Given the description of an element on the screen output the (x, y) to click on. 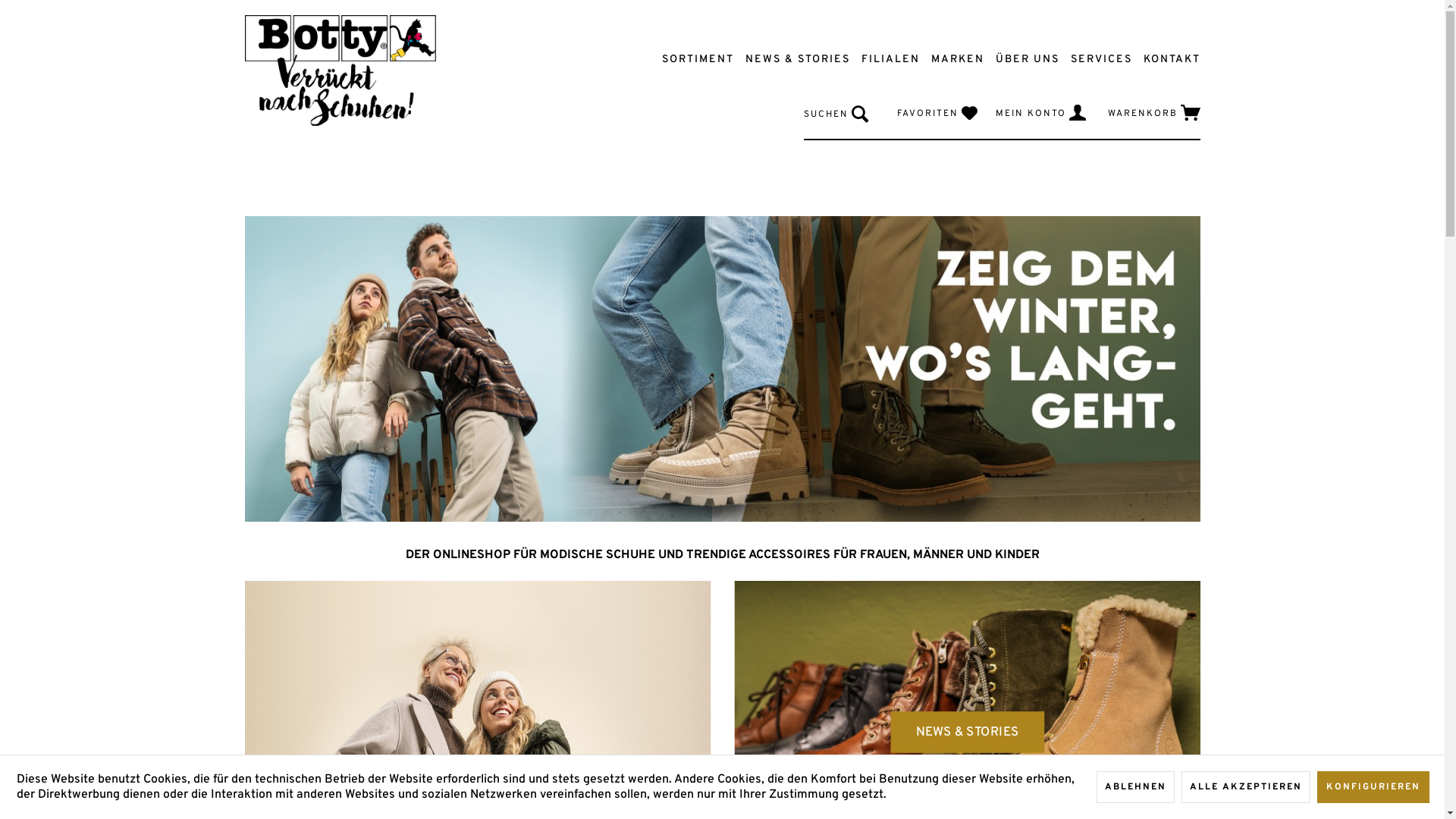
SUCHEN Element type: text (835, 115)
SORTIMENT Element type: text (692, 59)
ALLE AKZEPTIEREN Element type: text (1245, 787)
MARKEN Element type: text (951, 59)
ABLEHNEN Element type: text (1135, 787)
WARENKORB Element type: text (1152, 112)
NEWS & STORIES Element type: text (792, 59)
KONTAKT Element type: text (1165, 59)
FILIALEN Element type: text (884, 59)
FAVORITEN Element type: text (936, 112)
SERVICES Element type: text (1094, 59)
Botty.ch - zur Startseite wechseln Element type: hover (339, 83)
MEIN KONTO Element type: text (1039, 112)
KONFIGURIEREN Element type: text (1372, 787)
